Given the description of an element on the screen output the (x, y) to click on. 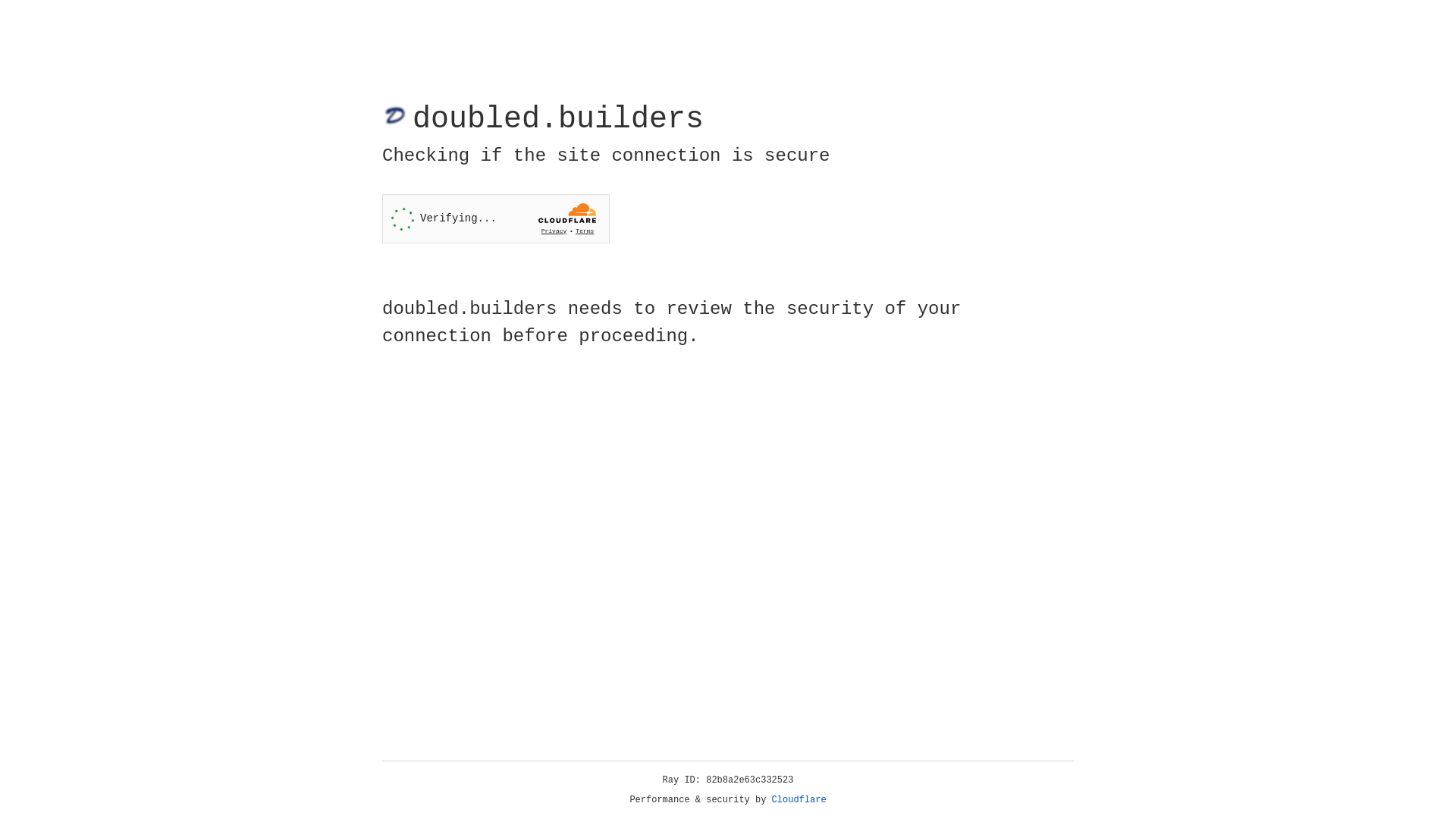
Widget containing a Cloudflare security challenge Element type: hover (495, 218)
Cloudflare Element type: text (798, 799)
